Given the description of an element on the screen output the (x, y) to click on. 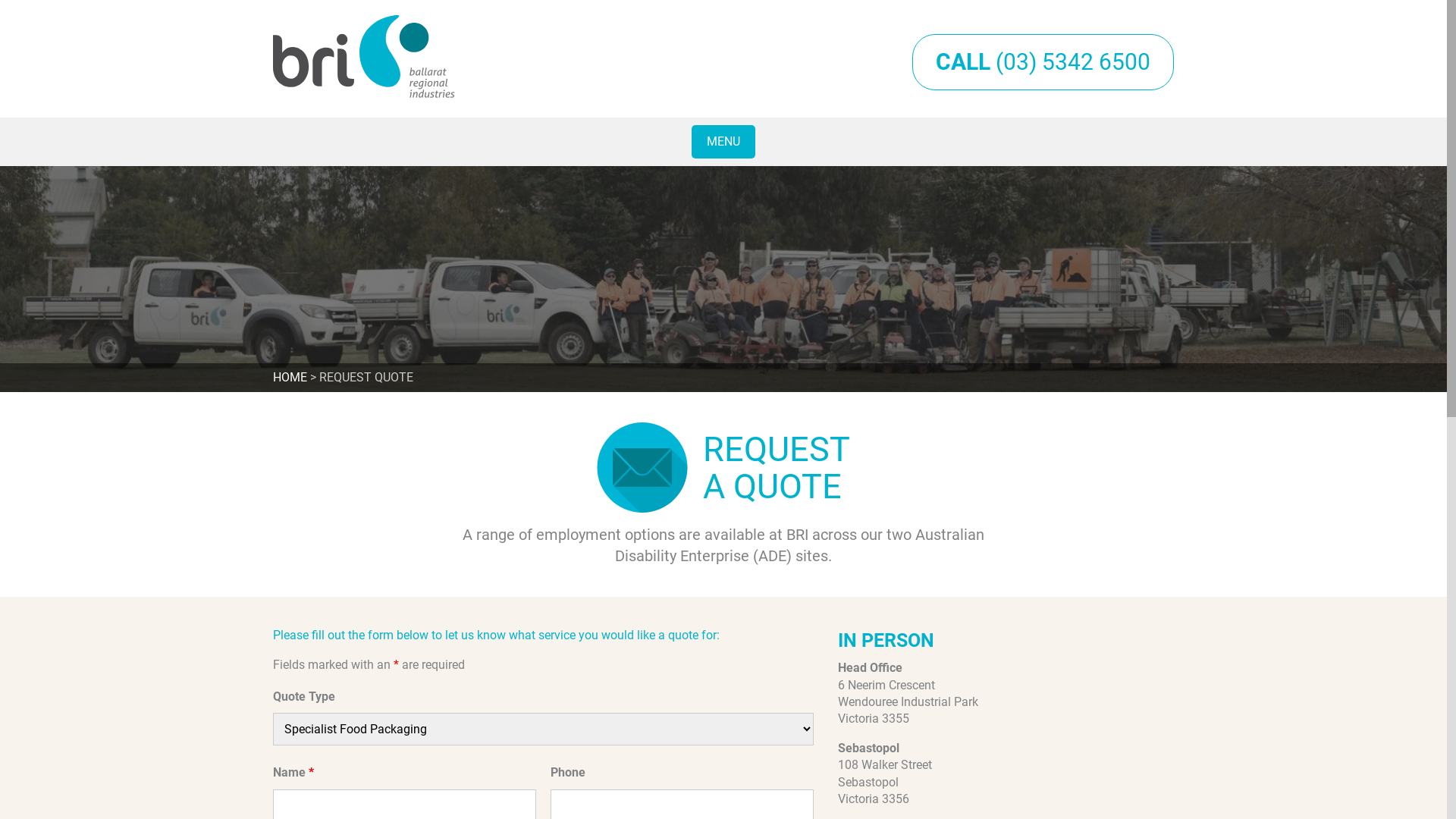
CALL (03) 5342 6500 Element type: text (1042, 62)
MENU Element type: text (723, 141)
HOME Element type: text (290, 377)
